Given the description of an element on the screen output the (x, y) to click on. 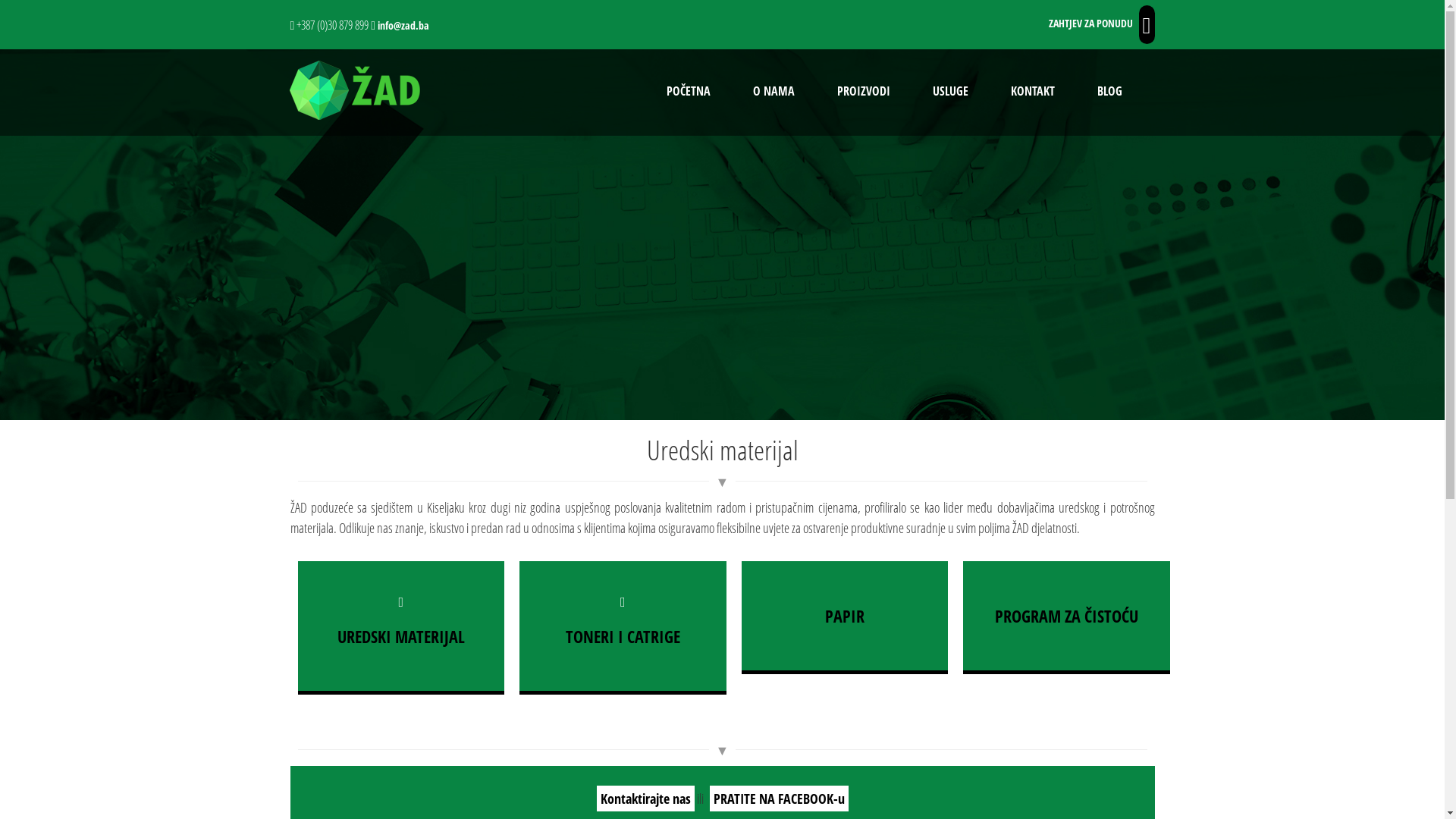
PROIZVODI Element type: text (863, 91)
PRATITE NA FACEBOOK-u Element type: text (778, 798)
ZAHTJEV ZA PONUDU Element type: text (1090, 22)
USLUGE Element type: text (950, 91)
Kontaktirajte nas Element type: text (644, 798)
BLOG Element type: text (1108, 91)
O NAMA Element type: text (772, 91)
KONTAKT Element type: text (1031, 91)
info@zad.ba Element type: text (403, 25)
